Given the description of an element on the screen output the (x, y) to click on. 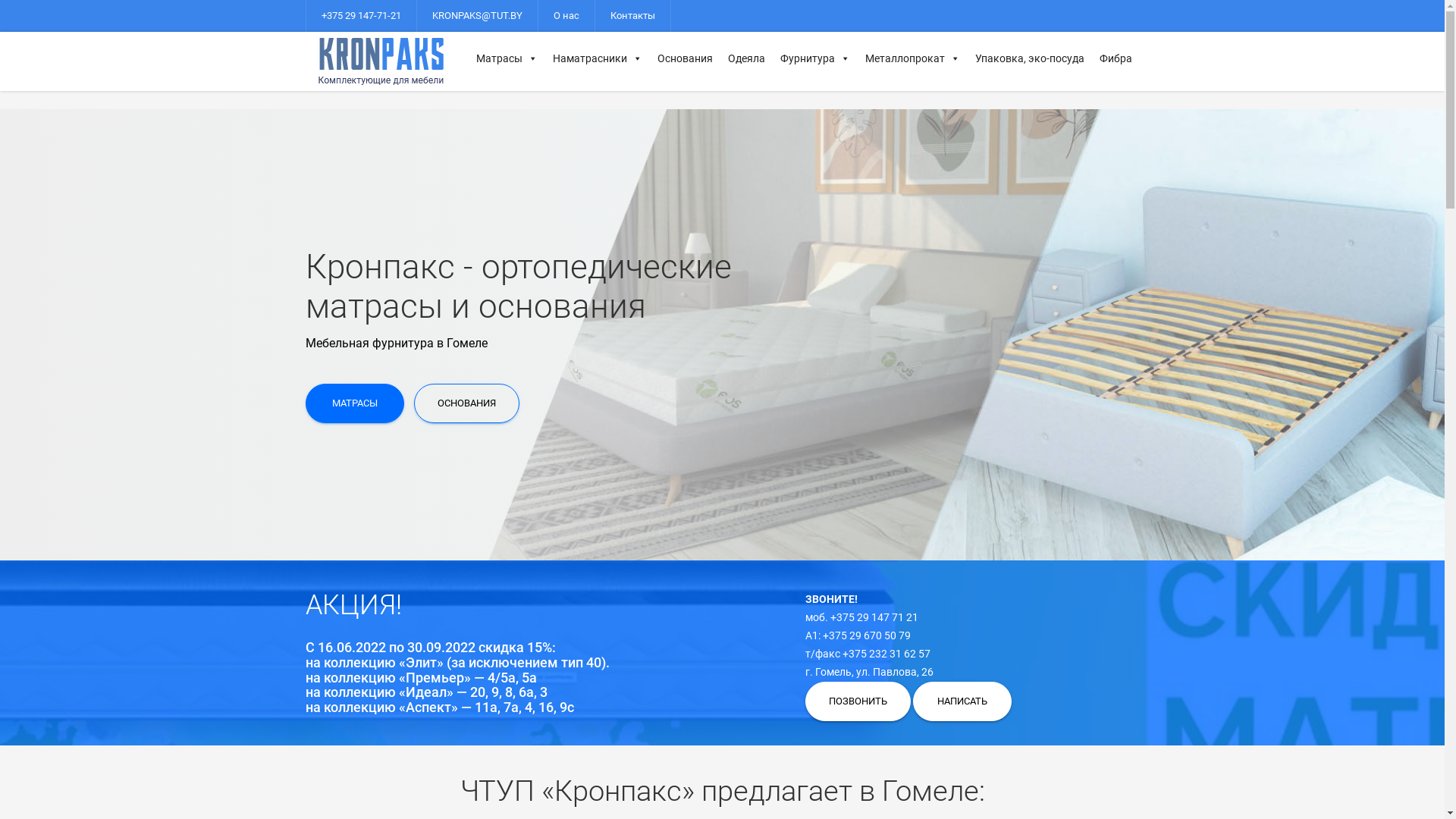
+375 29 147-71-21 Element type: text (361, 15)
KRONPAKS@TUT.BY Element type: text (477, 15)
